Given the description of an element on the screen output the (x, y) to click on. 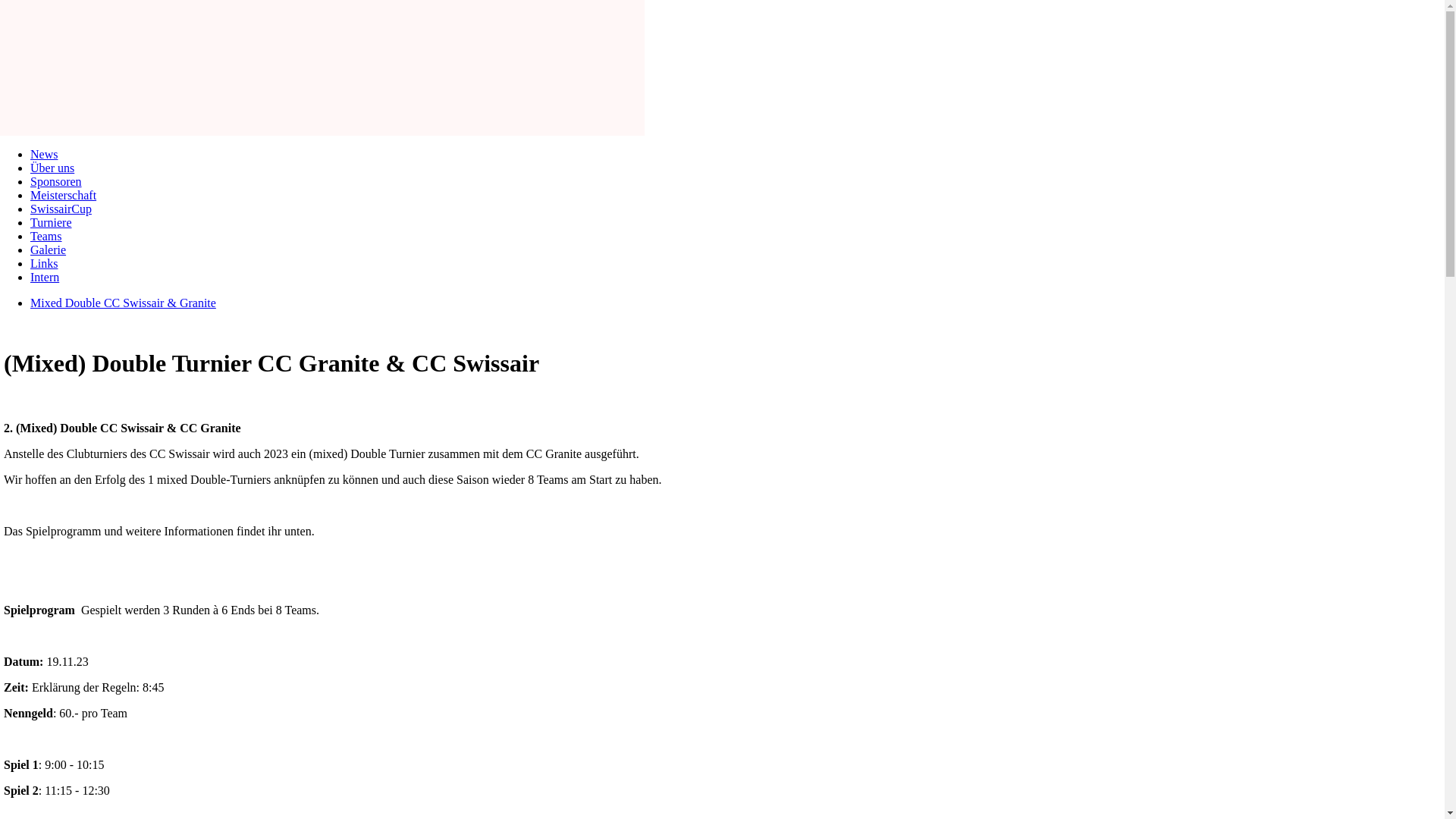
Links Element type: text (43, 263)
Mixed Double CC Swissair & Granite Element type: text (123, 302)
Turniere Element type: text (51, 222)
News Element type: text (43, 153)
Galerie Element type: text (47, 249)
Sponsoren Element type: text (55, 181)
Teams Element type: text (46, 235)
Intern Element type: text (44, 276)
Meisterschaft Element type: text (63, 194)
SwissairCup Element type: text (60, 208)
